Given the description of an element on the screen output the (x, y) to click on. 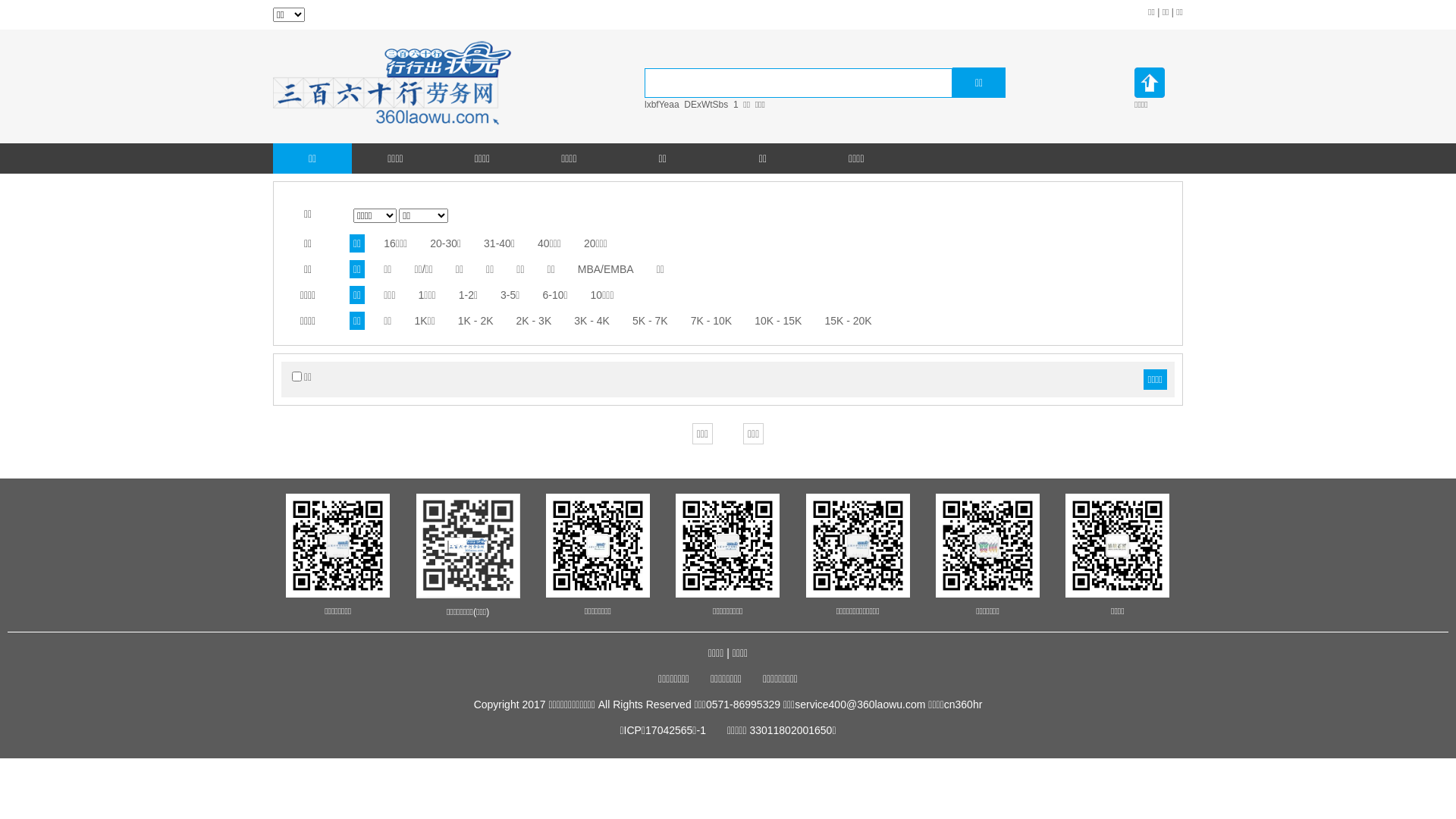
15K - 20K Element type: text (847, 320)
3K - 4K Element type: text (591, 320)
2K - 3K Element type: text (534, 320)
1K - 2K Element type: text (475, 320)
10K - 15K Element type: text (777, 320)
MBA/EMBA Element type: text (605, 269)
7K - 10K Element type: text (710, 320)
5K - 7K Element type: text (650, 320)
